Given the description of an element on the screen output the (x, y) to click on. 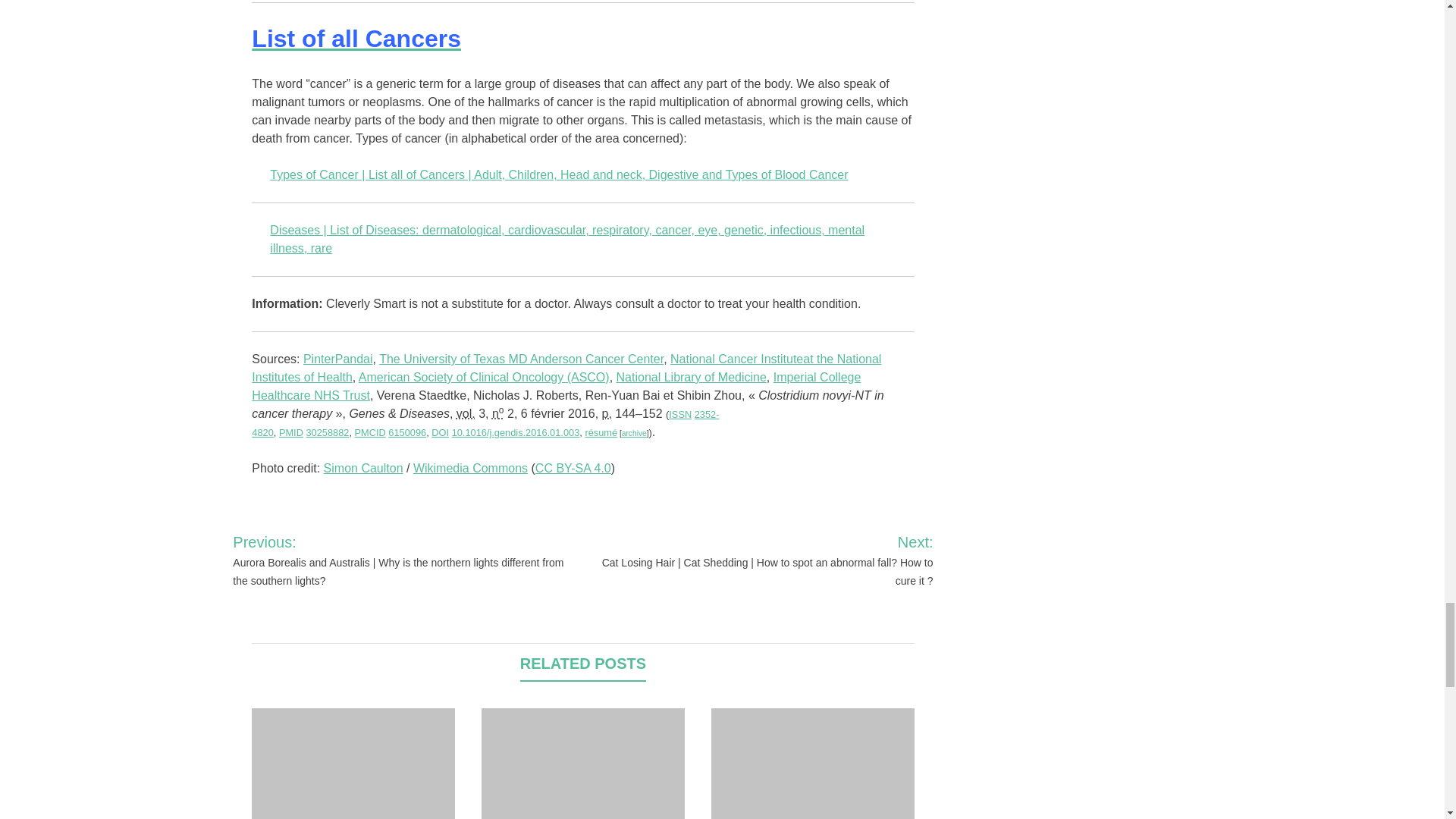
PubMed (290, 432)
International Standard Serial Number (679, 414)
PubMed Central (370, 432)
volume (466, 413)
Digital Object Identifier (439, 432)
